Given the description of an element on the screen output the (x, y) to click on. 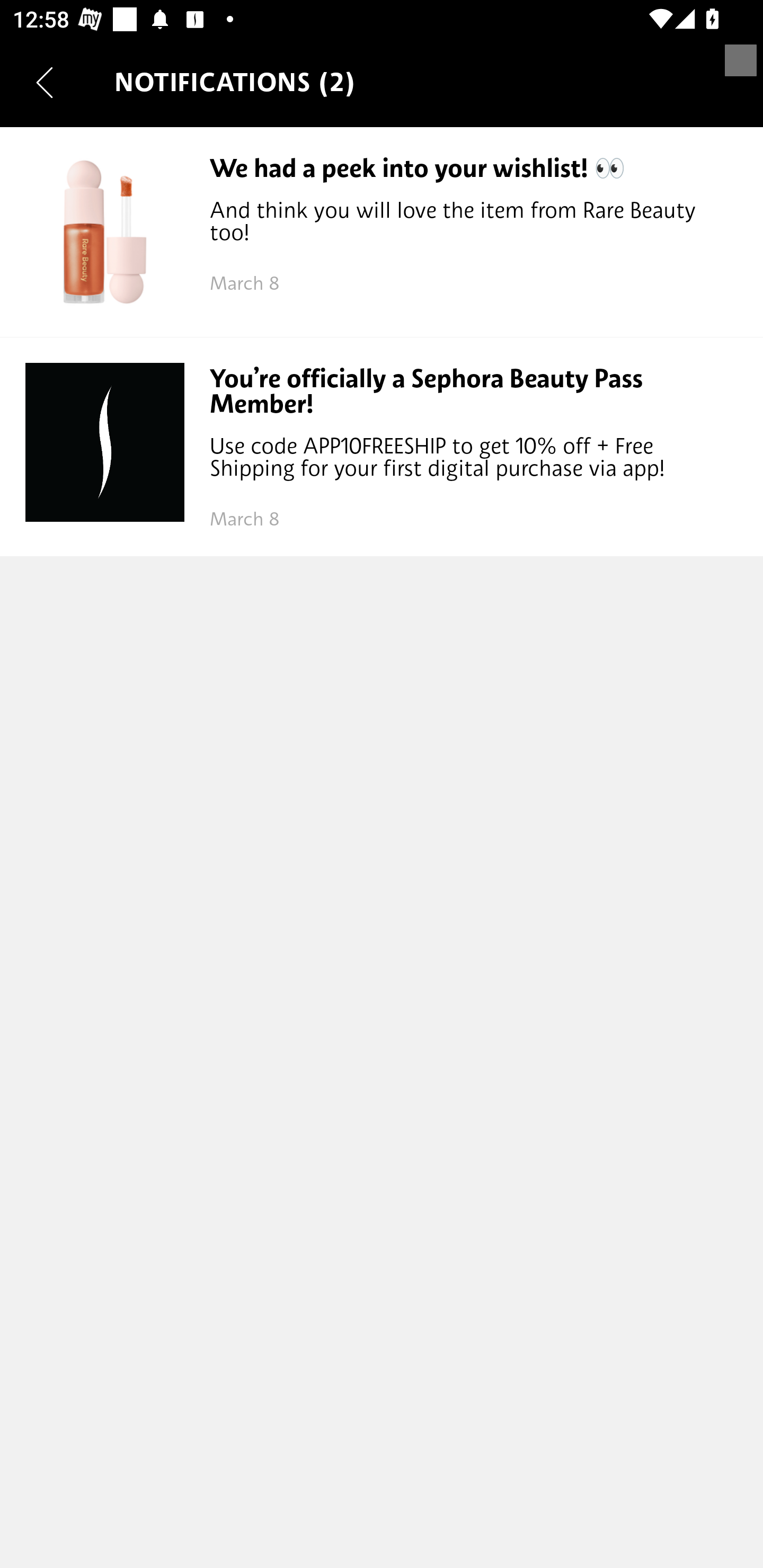
Navigate up (44, 82)
